Given the description of an element on the screen output the (x, y) to click on. 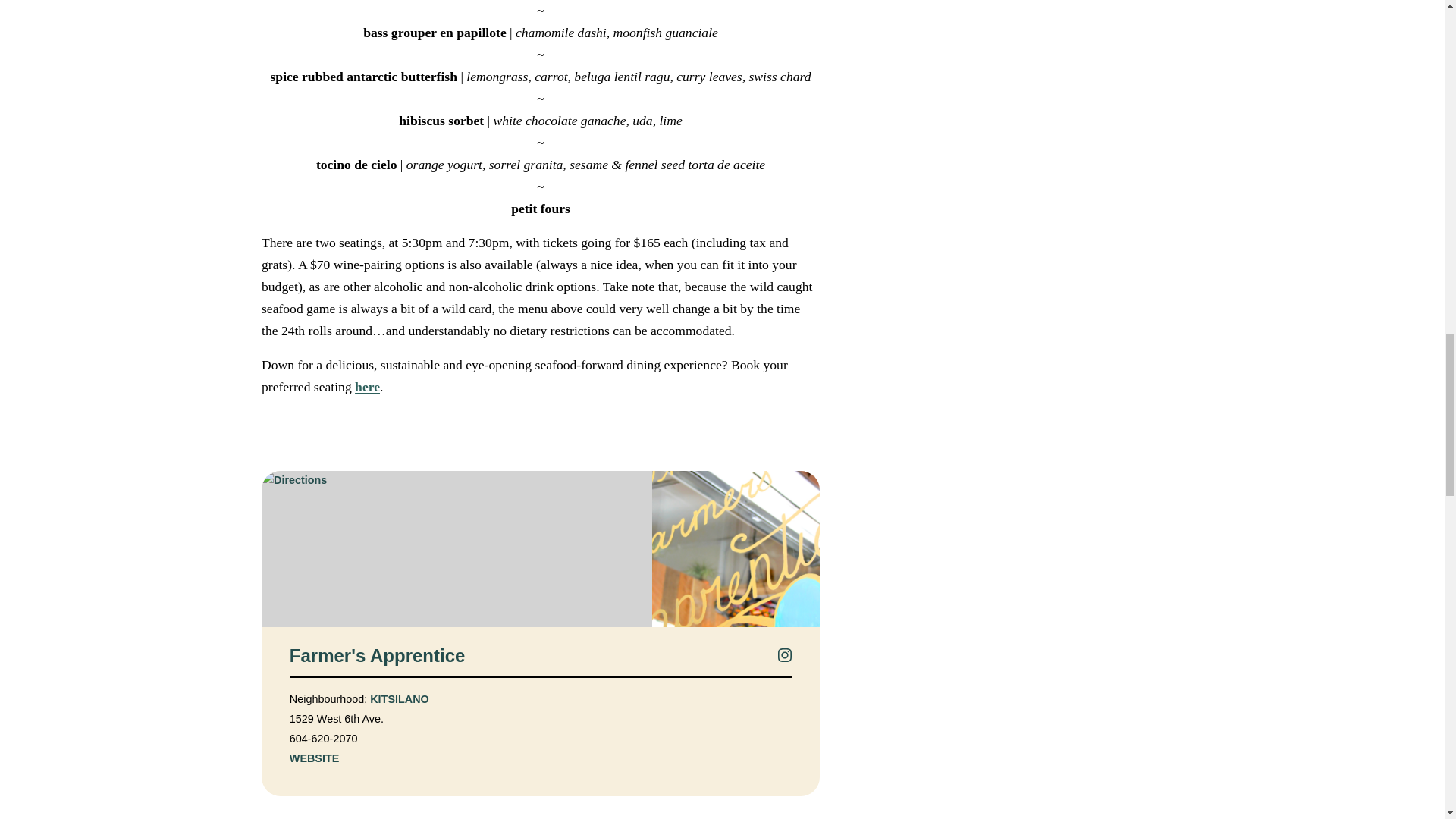
WEBSITE (313, 757)
KITSILANO (399, 698)
here (367, 386)
Directions (455, 548)
Farmer's Apprentice (376, 655)
